Given the description of an element on the screen output the (x, y) to click on. 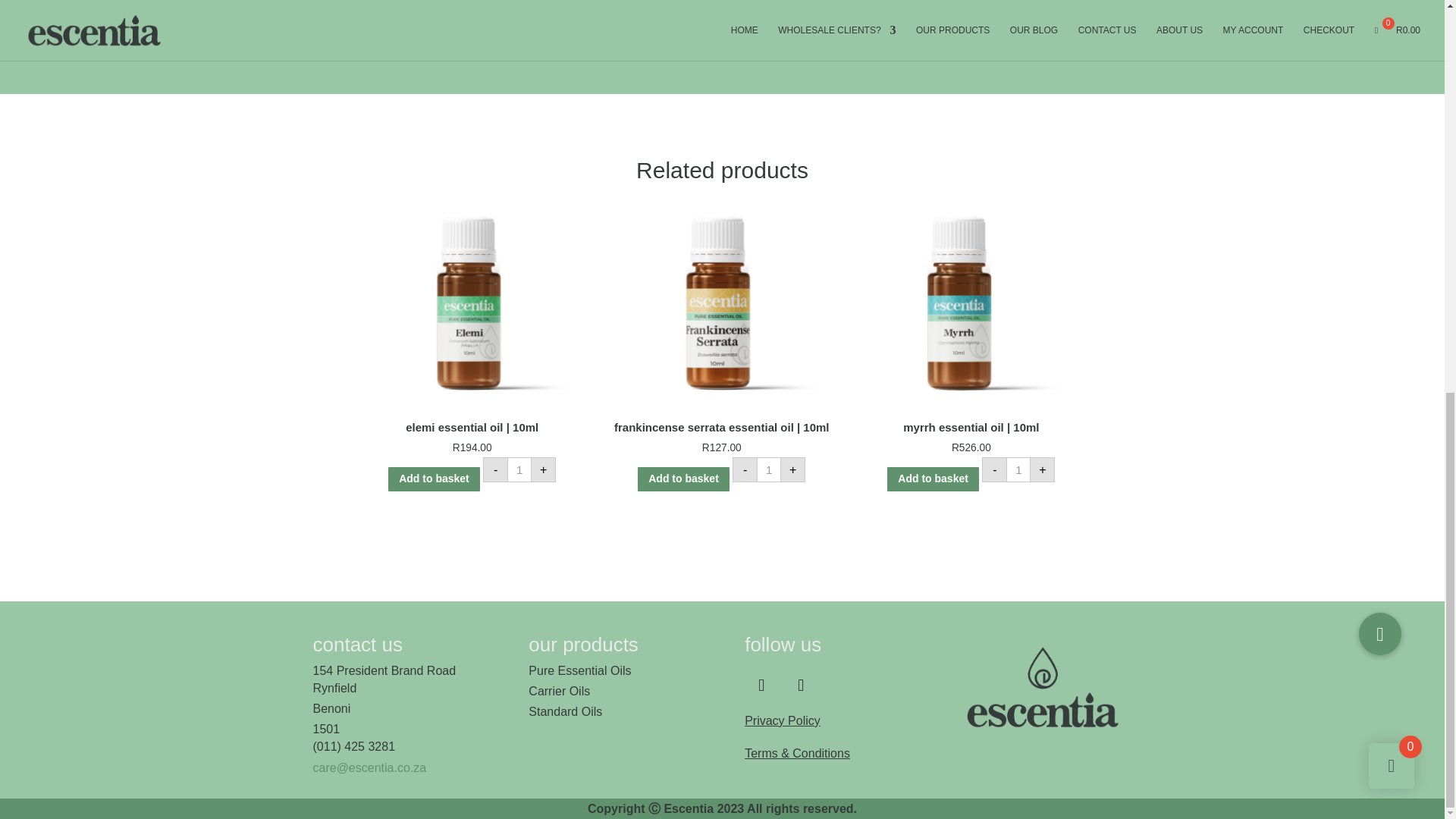
- (495, 469)
Add to basket (434, 478)
Qty (768, 469)
1 (519, 469)
Follow on Instagram (800, 685)
- (744, 469)
Qty (519, 469)
Escentia (1045, 688)
1 (768, 469)
Add to basket (683, 478)
Follow on Facebook (760, 685)
1 (1018, 469)
Qty (1018, 469)
